Given the description of an element on the screen output the (x, y) to click on. 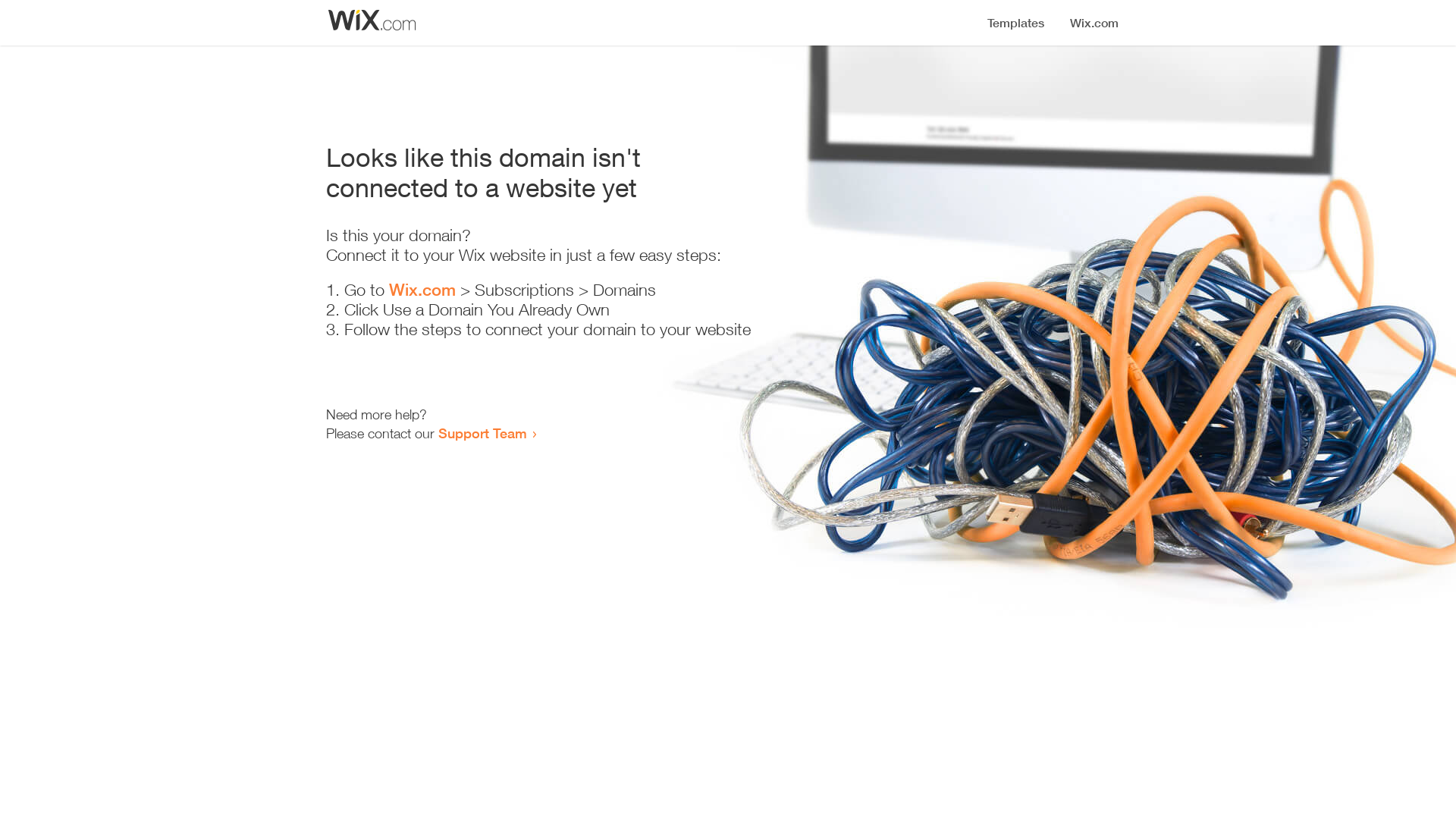
Wix.com Element type: text (422, 289)
Support Team Element type: text (482, 432)
